Given the description of an element on the screen output the (x, y) to click on. 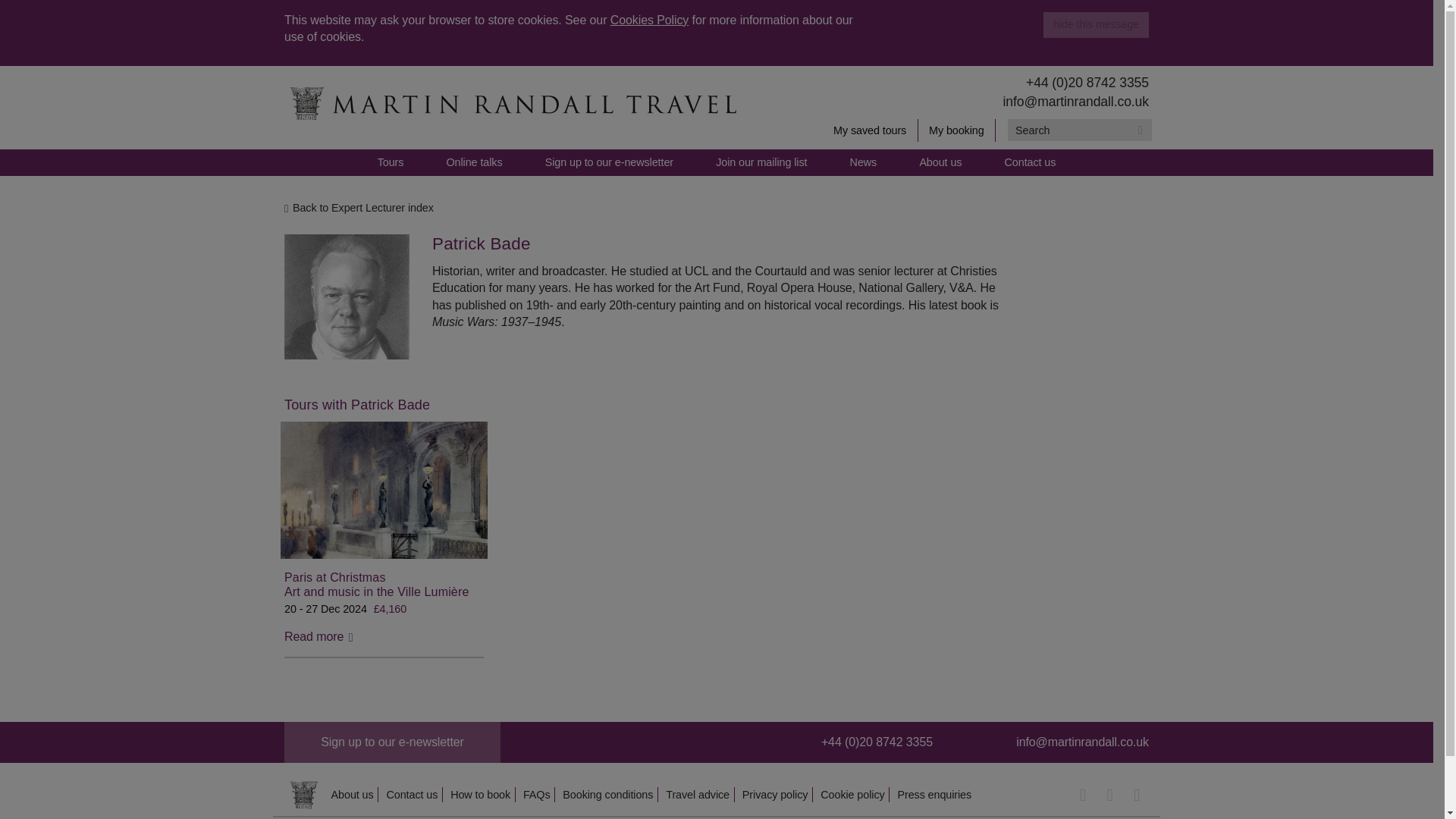
Sign up to our e-newsletter (391, 741)
Sign up to our e-newsletter (609, 162)
hide this message (1095, 24)
Join our mailing list (761, 162)
Tours (390, 162)
Martin Randall Travel (511, 103)
Online talks (474, 162)
News (862, 162)
Back to Expert Lecturer index (710, 207)
Contact us (1030, 162)
My booking (956, 129)
About us (940, 162)
Cookies Policy (649, 19)
My saved tours (870, 129)
